Given the description of an element on the screen output the (x, y) to click on. 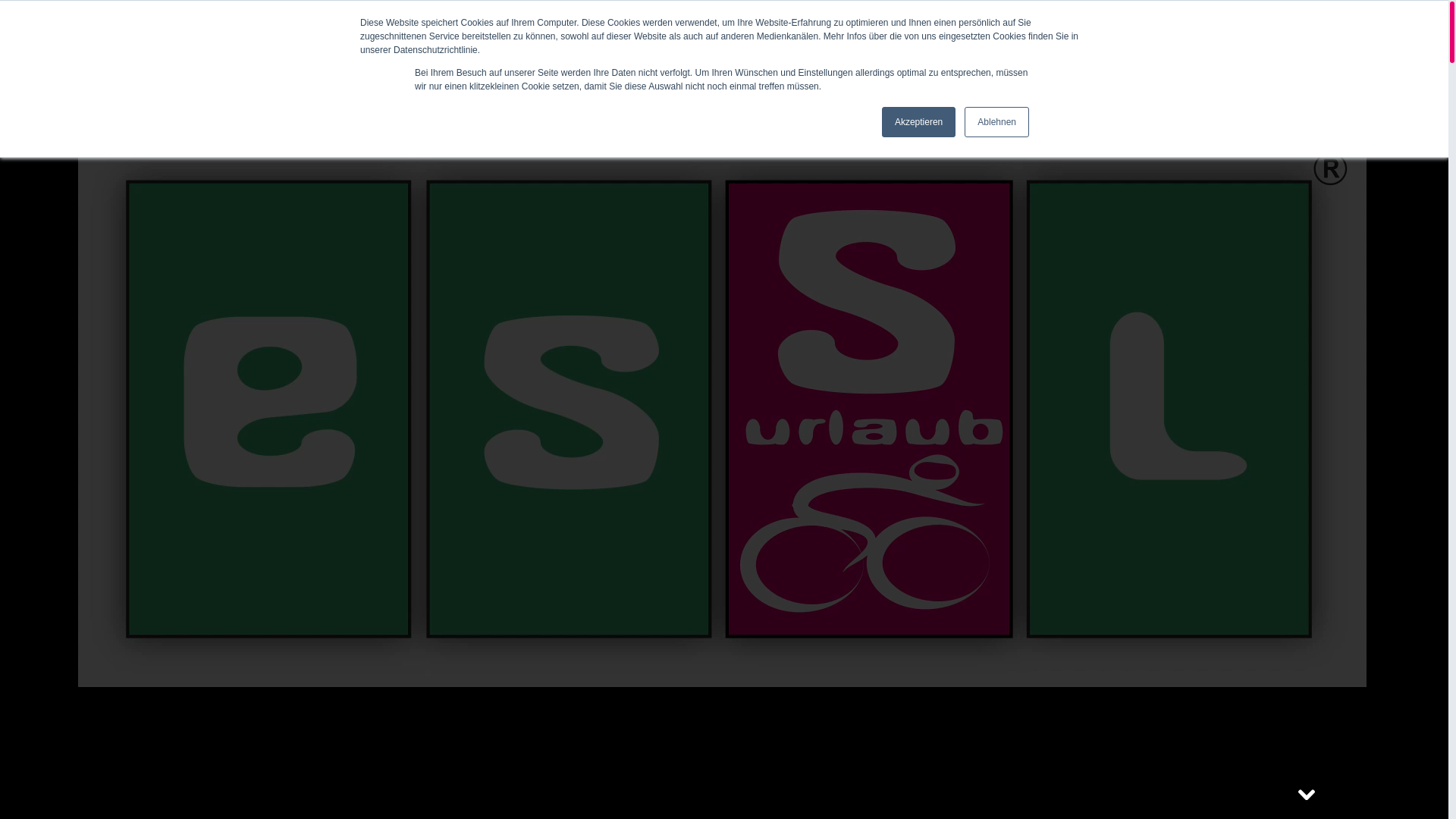
Ablehnen Element type: text (996, 121)
Akzeptieren Element type: text (918, 121)
Alle erlauben Element type: text (1375, 37)
Alle ablehnen Element type: text (1263, 37)
